Given the description of an element on the screen output the (x, y) to click on. 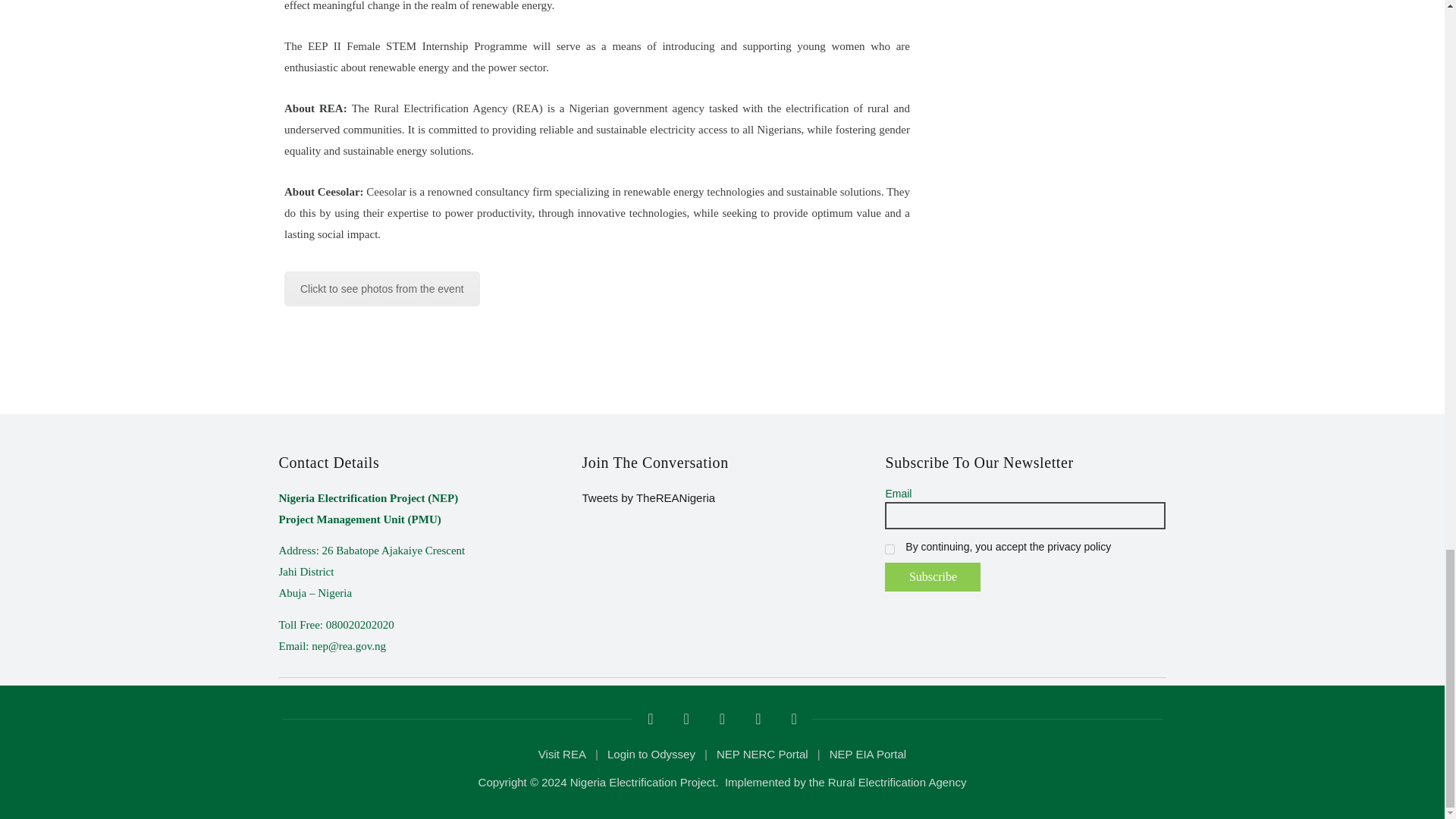
Subscribe (932, 576)
on (890, 549)
Click to see photos (381, 288)
